Given the description of an element on the screen output the (x, y) to click on. 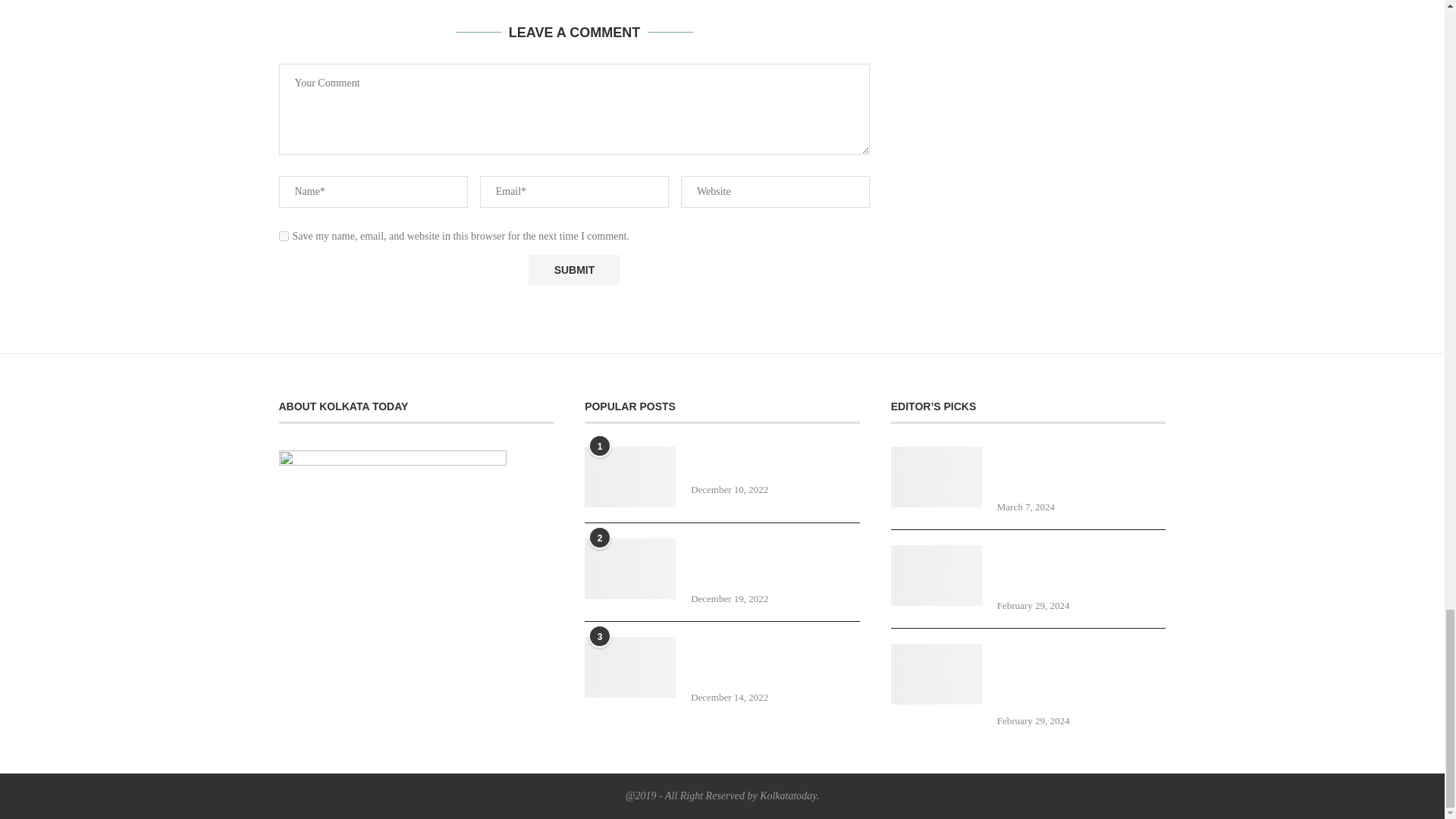
yes (283, 235)
Submit (574, 269)
